Given the description of an element on the screen output the (x, y) to click on. 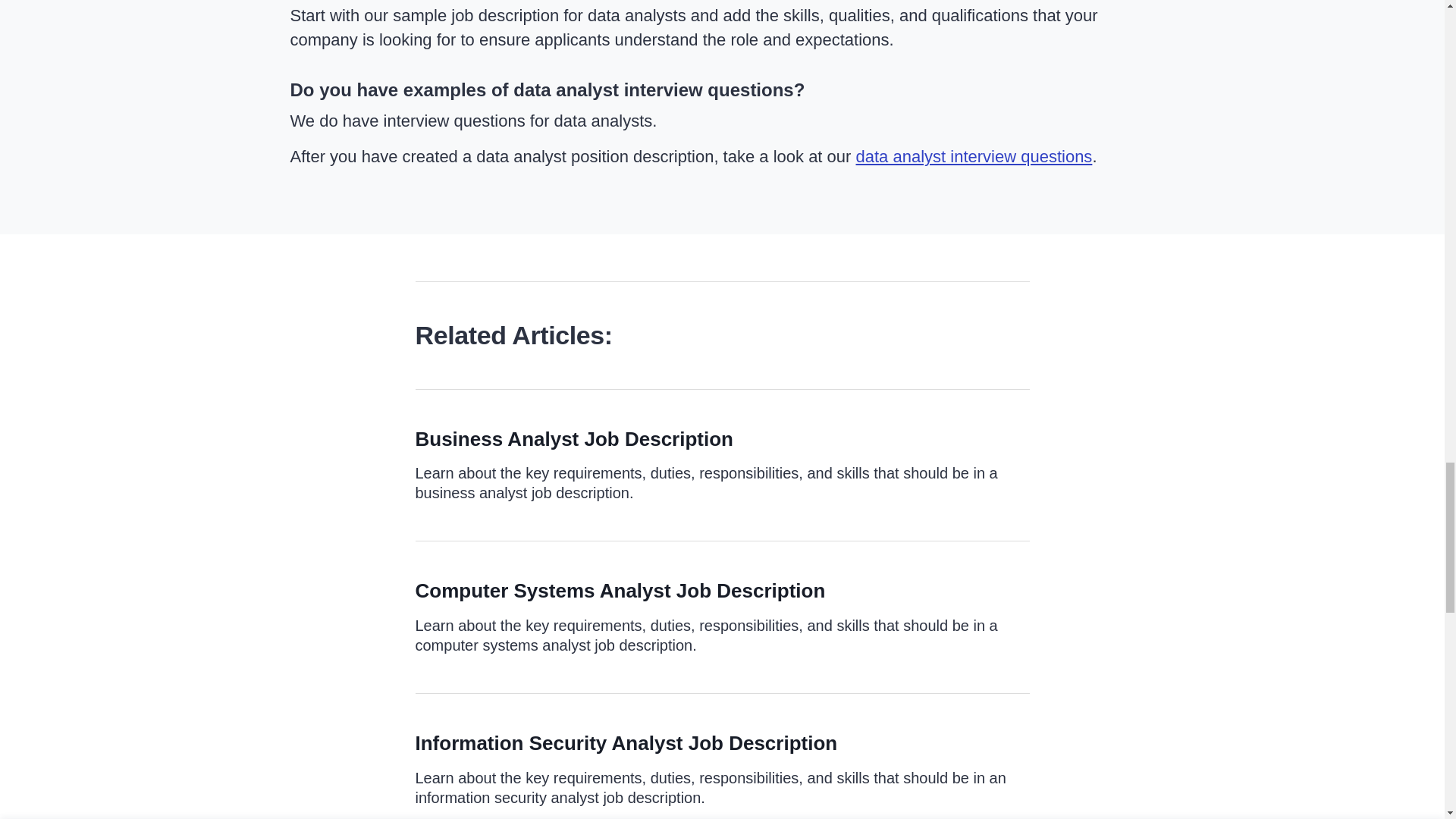
Business Analyst Job Description (573, 438)
Computer Systems Analyst Job Description (619, 590)
data analyst interview questions (974, 156)
Information Security Analyst Job Description (626, 743)
